Given the description of an element on the screen output the (x, y) to click on. 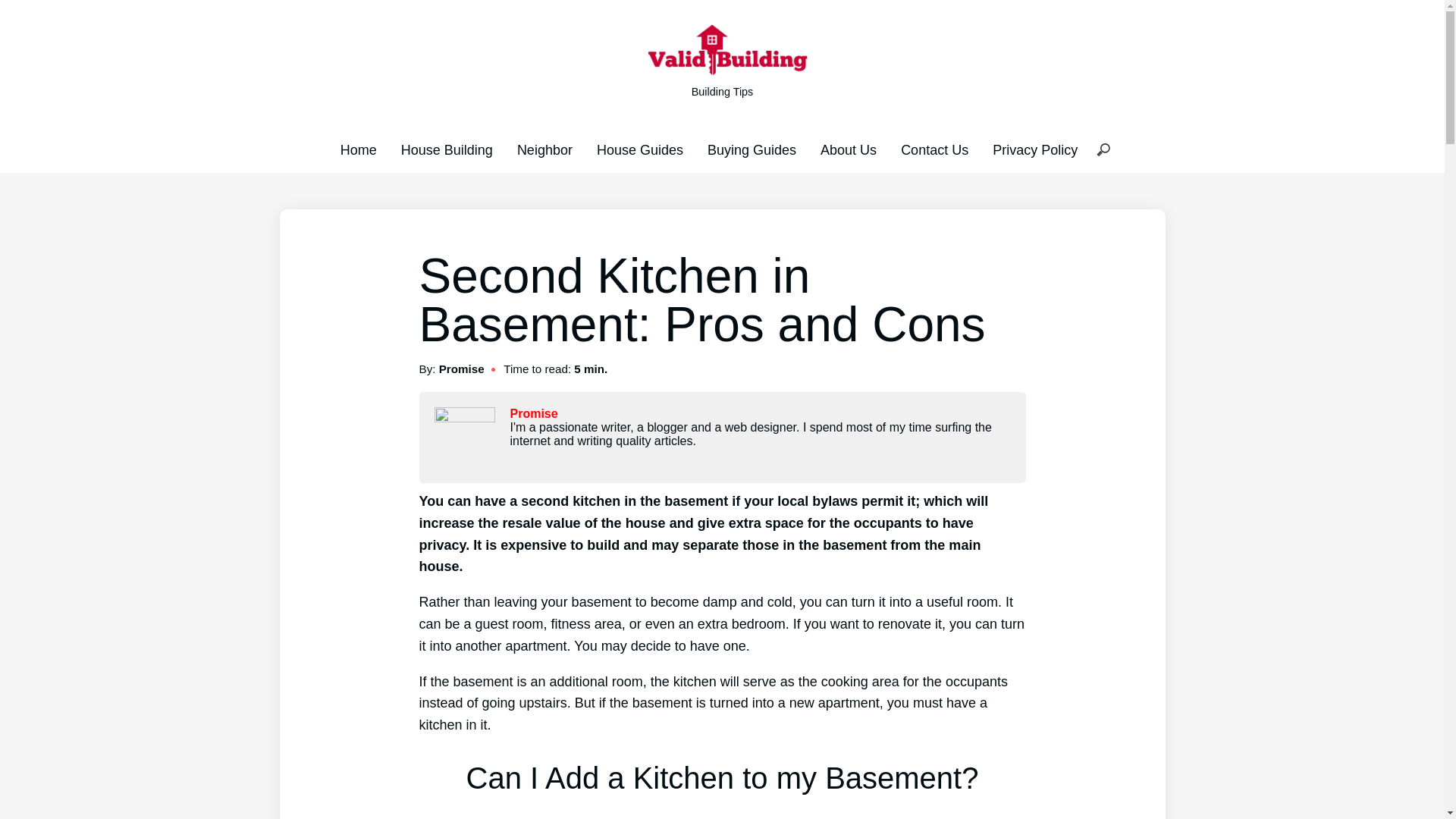
Search for: (1102, 150)
Neighbor (544, 150)
Contact Us (934, 150)
Privacy Policy (1034, 150)
Home (358, 150)
House Guides (639, 150)
About Us (848, 150)
Buying Guides (751, 150)
House Building (447, 150)
